Given the description of an element on the screen output the (x, y) to click on. 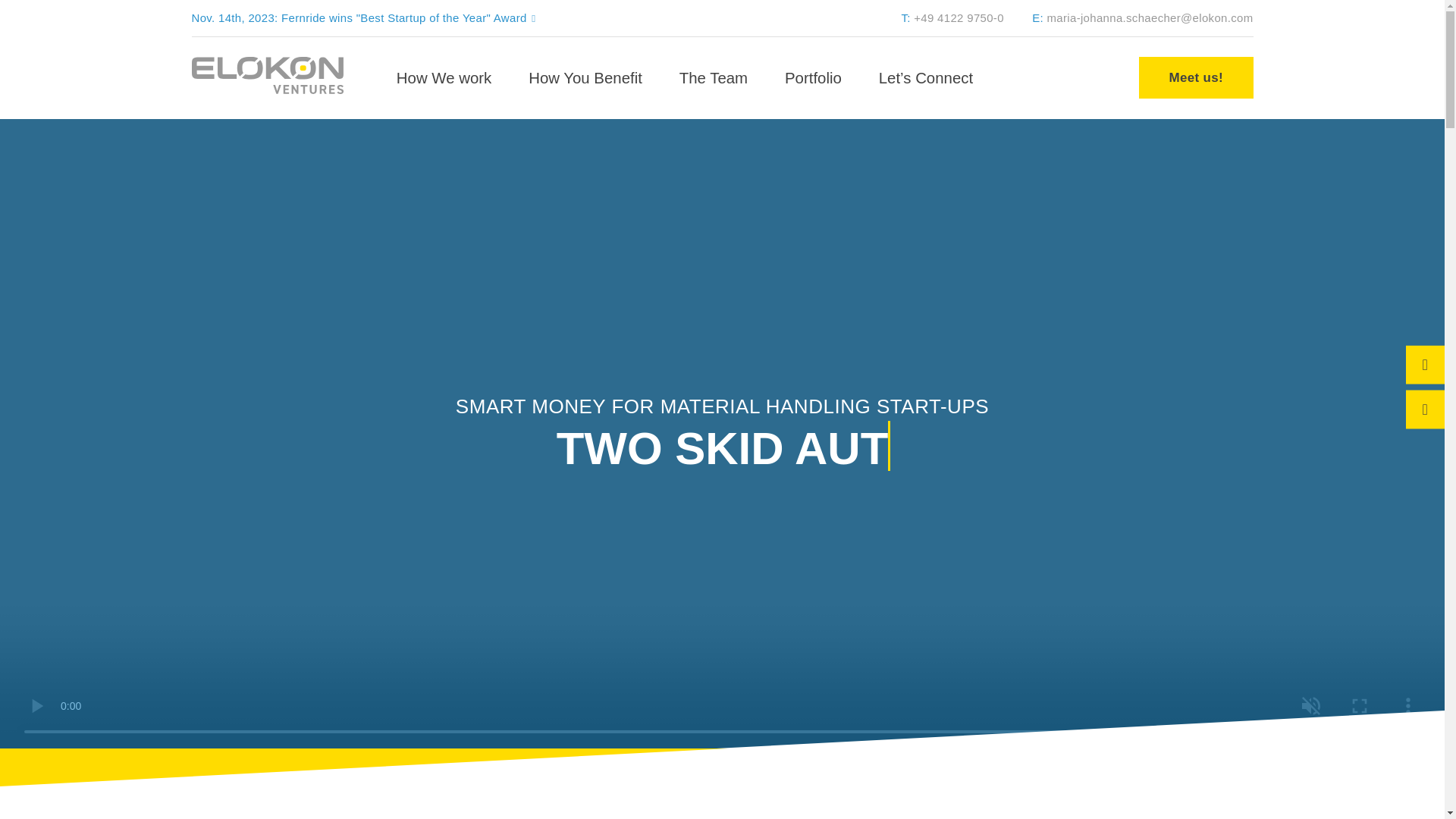
Meet us! (1195, 77)
Portfolio (813, 77)
How You Benefit (586, 77)
How We work (443, 77)
Portfolio (813, 77)
How We work (443, 77)
The Team (713, 77)
